Given the description of an element on the screen output the (x, y) to click on. 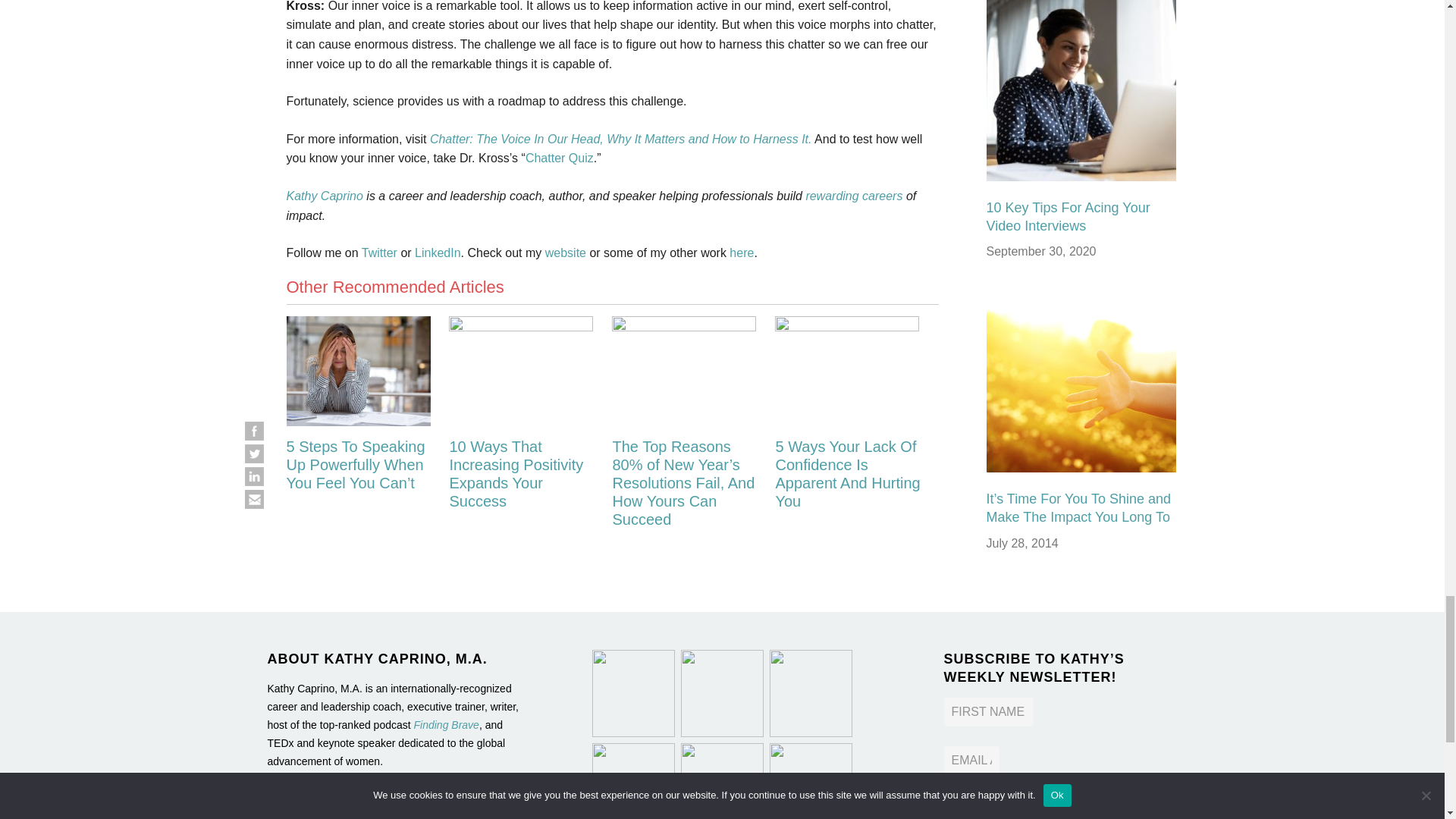
Subscribe (1005, 808)
Permalink to 10 Key Tips For Acing Your Video Interviews (1068, 216)
